Given the description of an element on the screen output the (x, y) to click on. 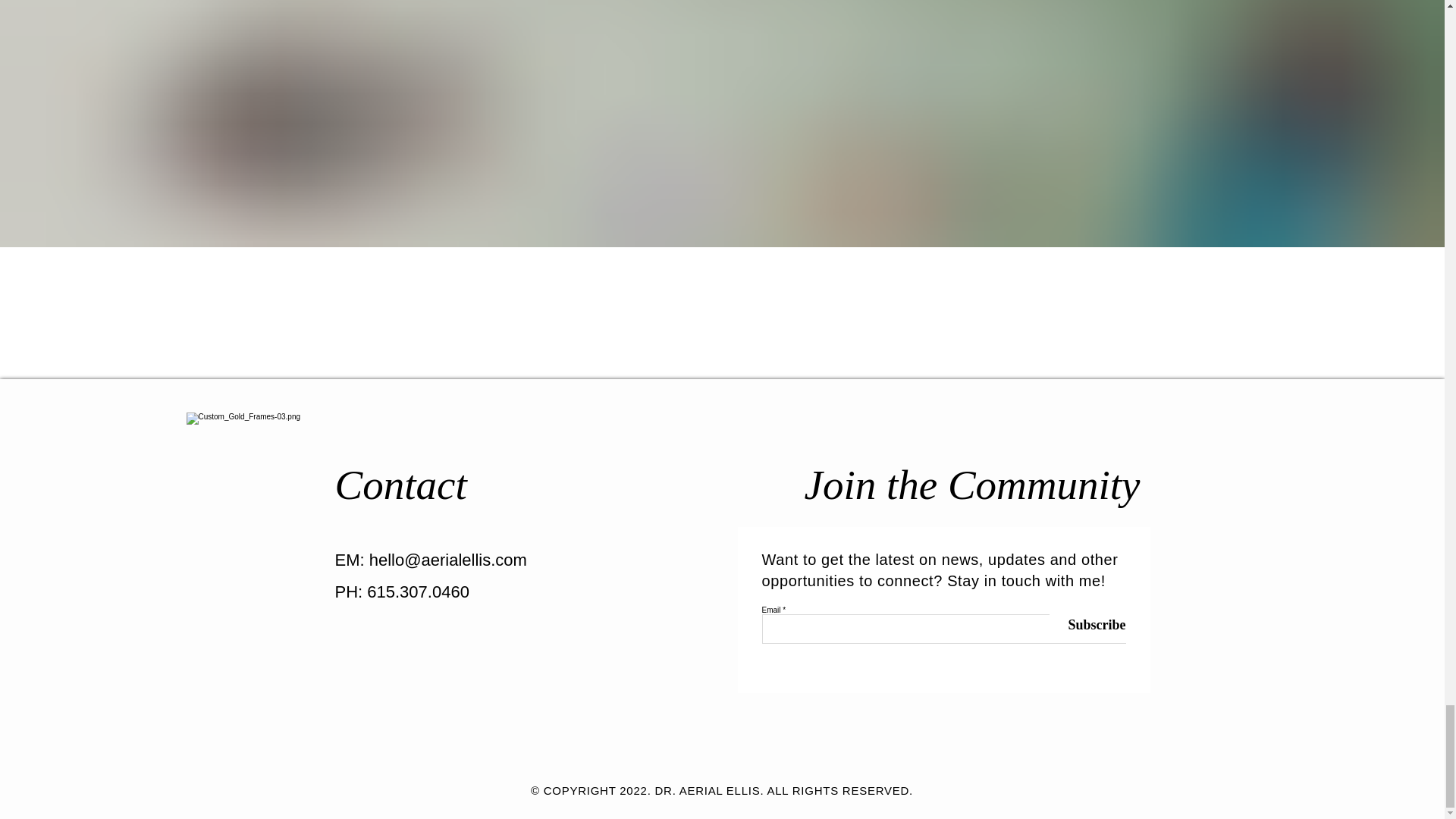
Subscribe (1087, 624)
